Given the description of an element on the screen output the (x, y) to click on. 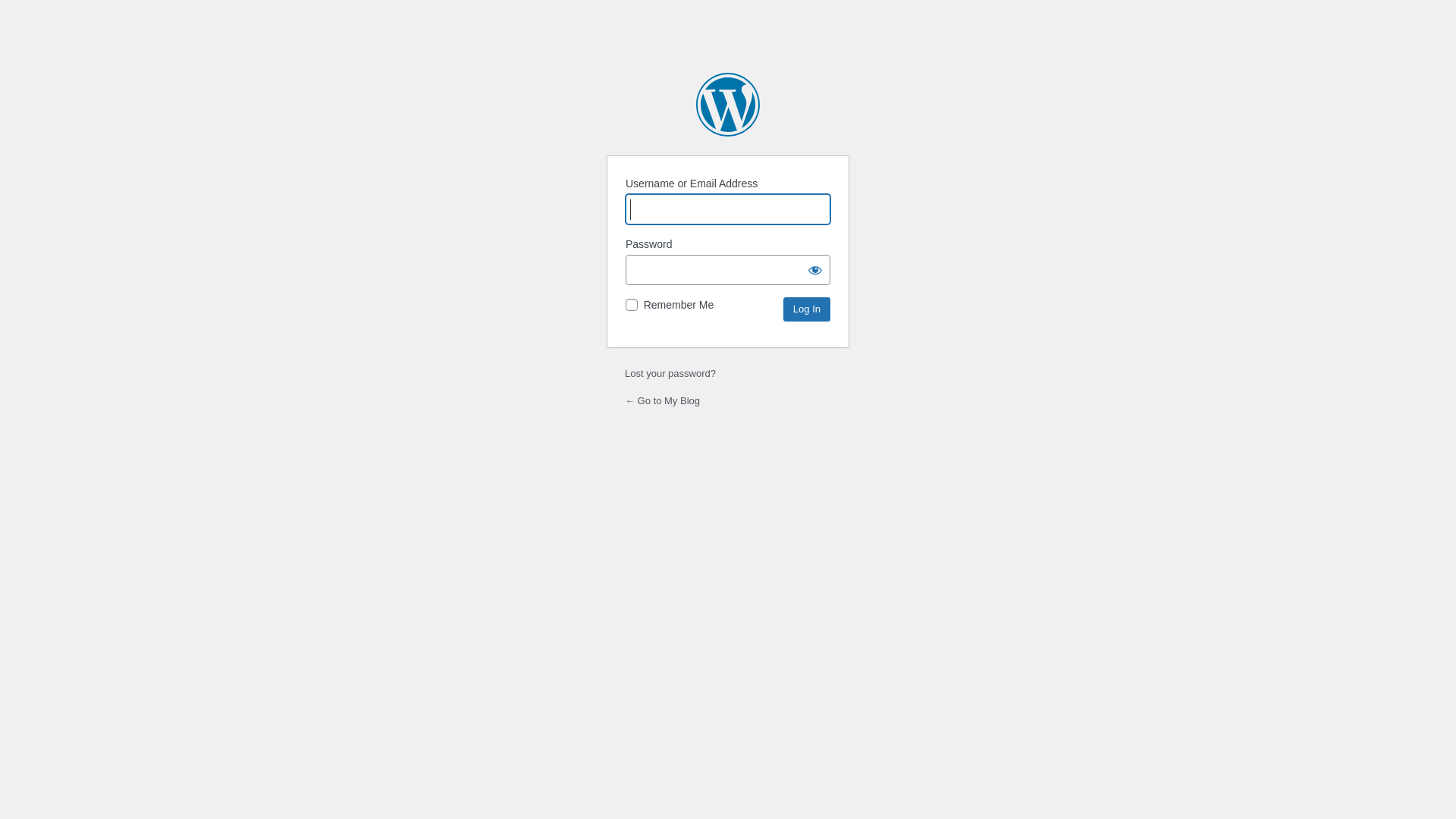
Lost your password? Element type: text (669, 373)
Powered by WordPress Element type: text (727, 104)
Log In Element type: text (806, 309)
